Given the description of an element on the screen output the (x, y) to click on. 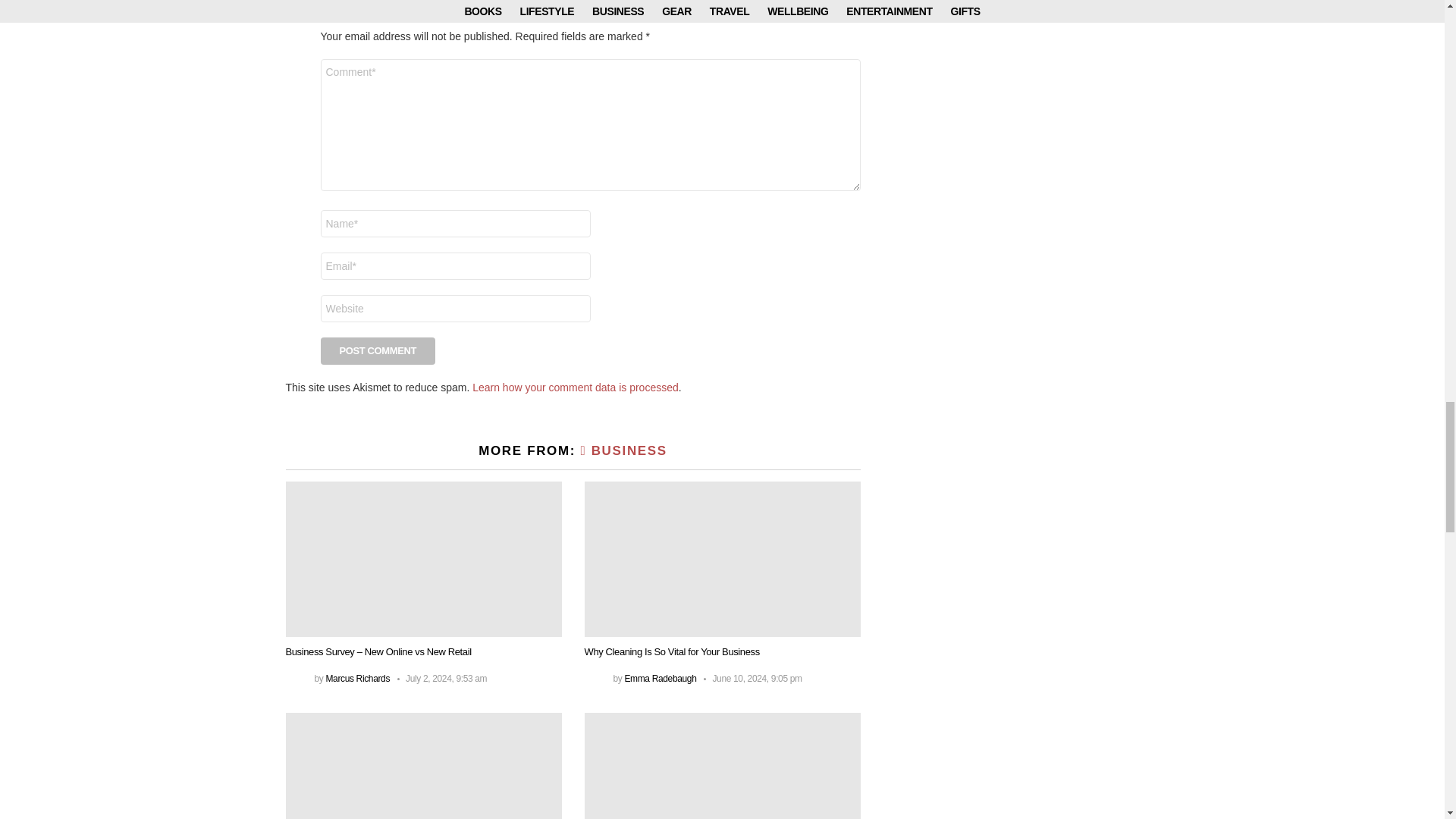
Posts by Marcus Richards (357, 678)
Post Comment (377, 350)
Posts by Emma Radebaugh (659, 678)
The Role of Technology in Modern Construction Businesses (721, 765)
Why Cleaning Is So Vital for Your Business (721, 559)
